Given the description of an element on the screen output the (x, y) to click on. 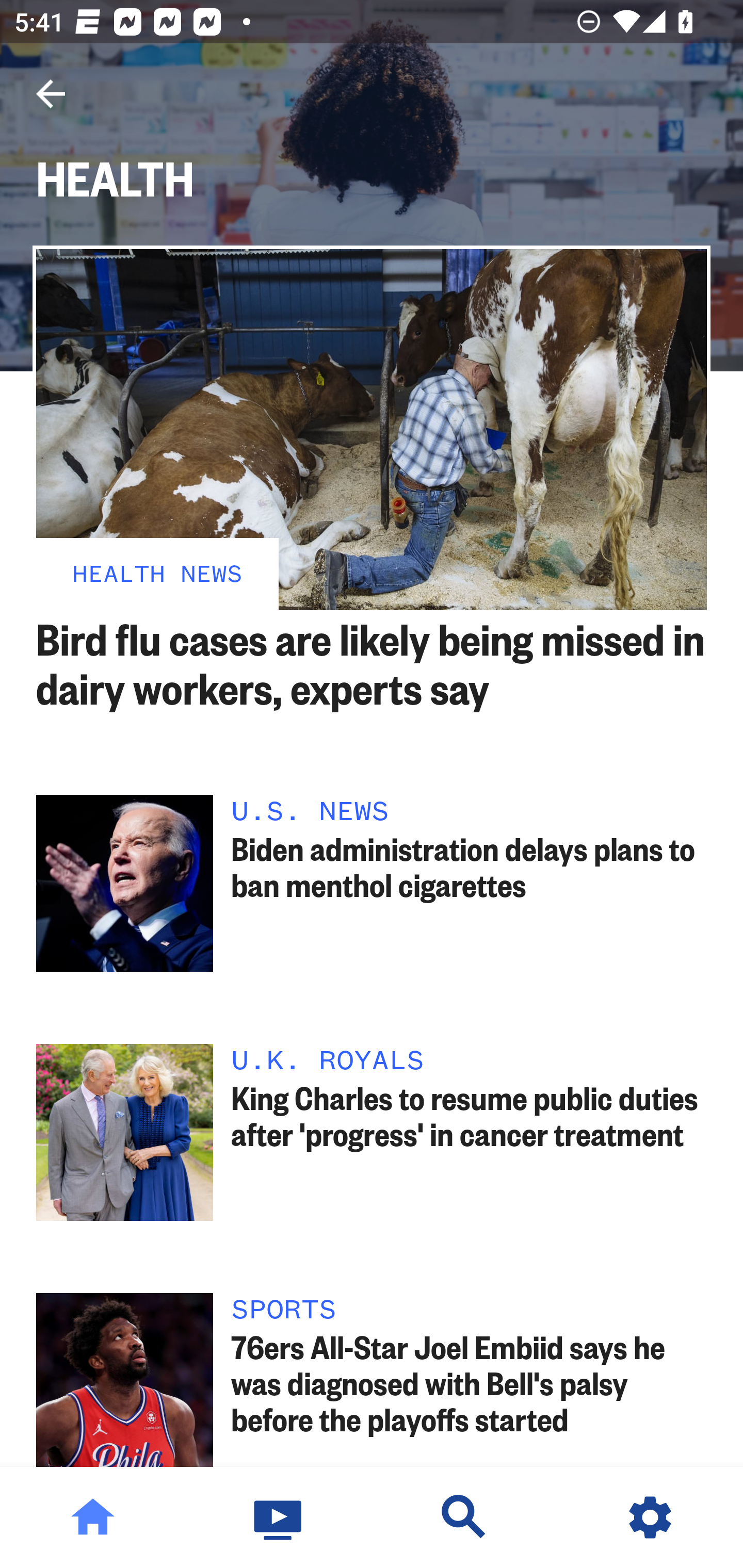
Navigate up (50, 93)
Watch (278, 1517)
Discover (464, 1517)
Settings (650, 1517)
